Given the description of an element on the screen output the (x, y) to click on. 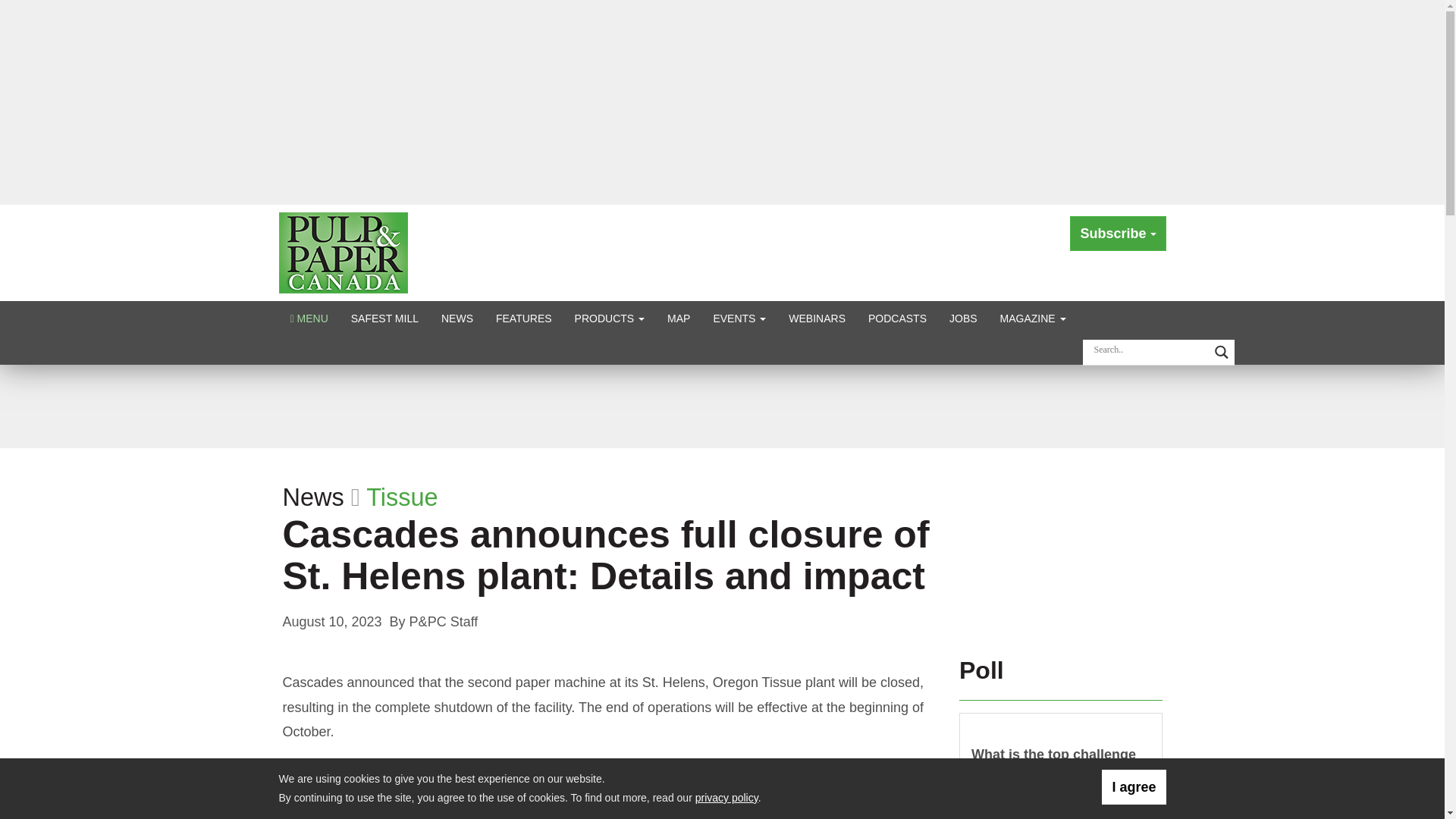
Subscribe (1118, 233)
MAP (678, 317)
SAFEST MILL (384, 317)
PRODUCTS (609, 317)
Click to show site navigation (309, 317)
MAGAZINE (1032, 317)
MENU (309, 317)
3rd party ad content (1060, 546)
WEBINARS (817, 317)
EVENTS (739, 317)
NEWS (456, 317)
PODCASTS (897, 317)
Pulp and Paper Canada (343, 251)
JOBS (962, 317)
